Given the description of an element on the screen output the (x, y) to click on. 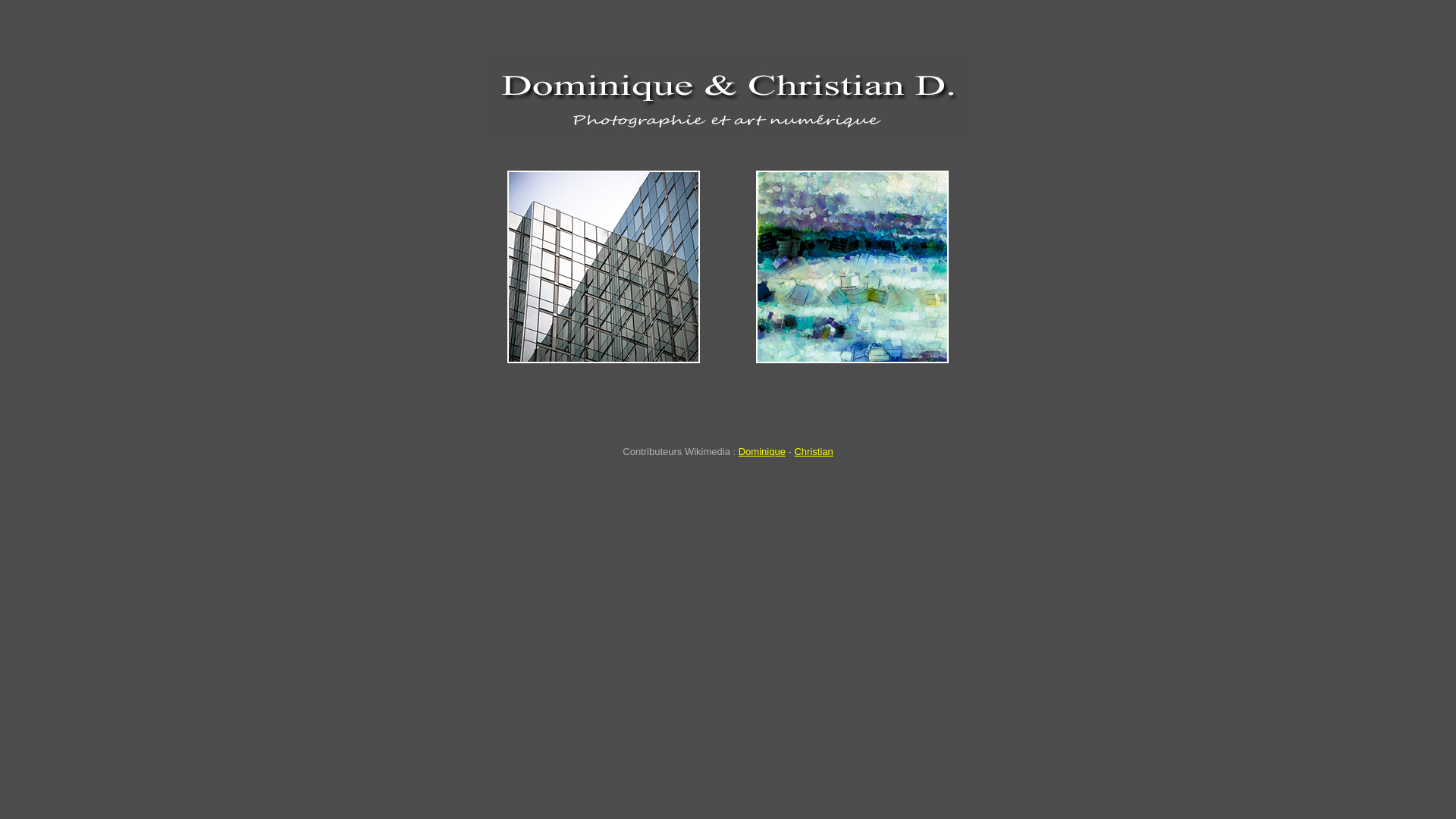
Dominique Element type: text (761, 451)
Christian Element type: text (812, 451)
Christian D. - Dichotomie sociale (digital painting) Element type: hover (852, 266)
